Given the description of an element on the screen output the (x, y) to click on. 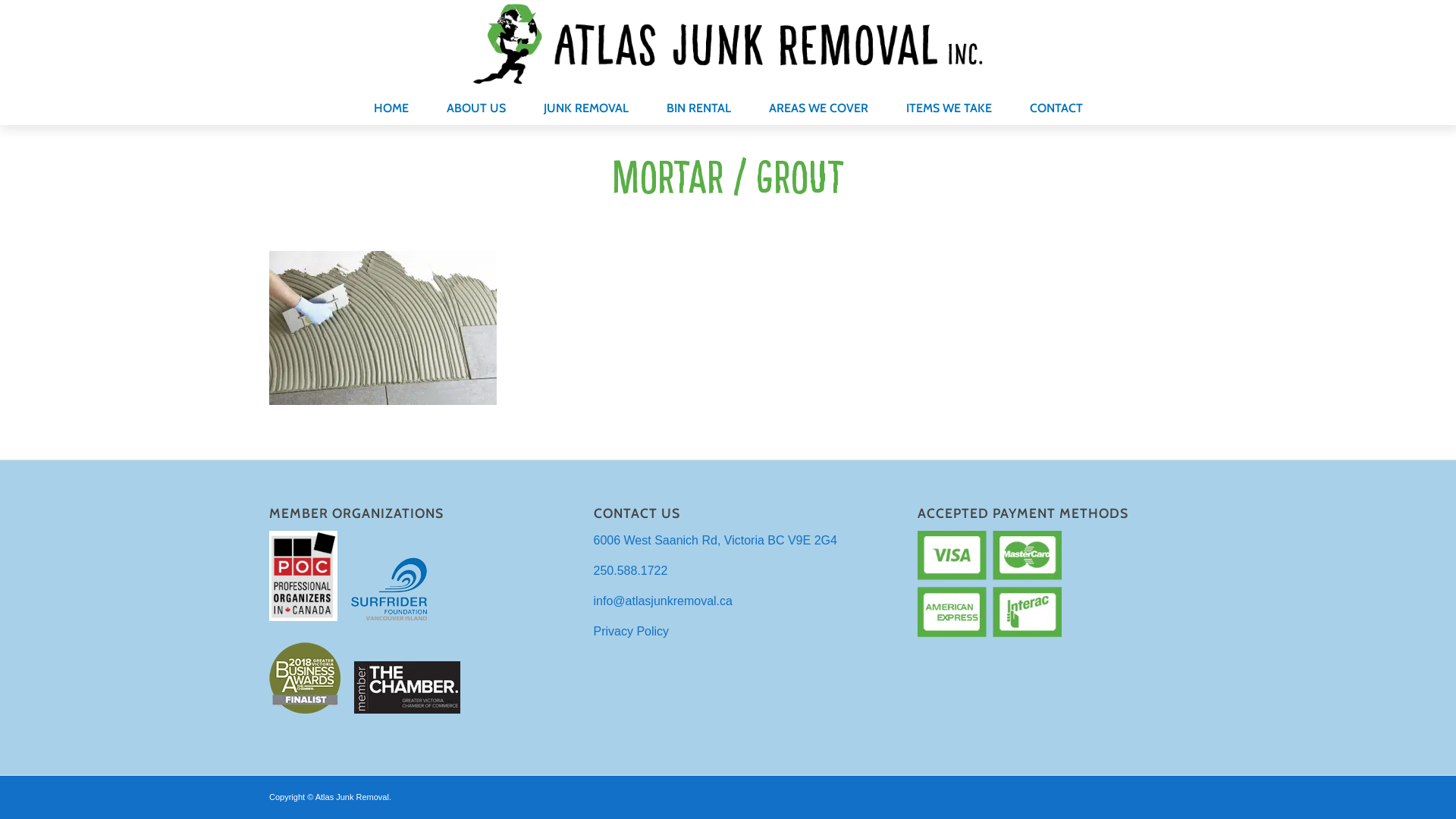
AREAS WE COVER Element type: text (817, 106)
HOME Element type: text (390, 106)
Mortar / Grout Element type: text (727, 177)
250.588.1722 Element type: text (630, 570)
BIN RENTAL Element type: text (698, 106)
ABOUT US Element type: text (475, 106)
info@atlasjunkremoval.ca Element type: text (662, 600)
JUNK REMOVAL Element type: text (585, 106)
Privacy Policy Element type: text (631, 630)
logo-new Element type: hover (727, 43)
CONTACT Element type: text (1055, 106)
6006 West Saanich Rd, Victoria BC V9E 2G4 Element type: text (715, 539)
ITEMS WE TAKE Element type: text (948, 106)
